Given the description of an element on the screen output the (x, y) to click on. 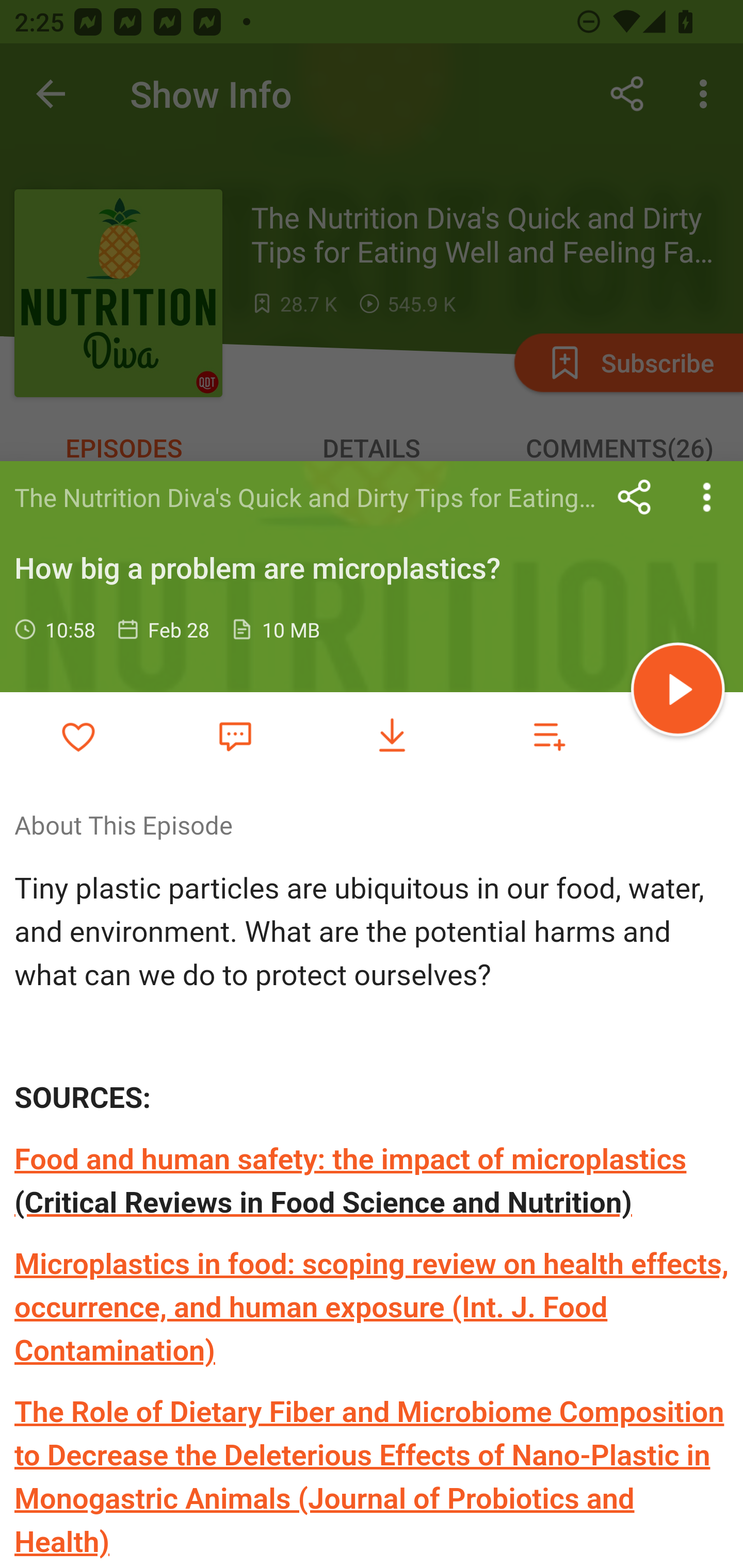
Share (634, 496)
more options (706, 496)
Play (677, 692)
Favorite (234, 735)
Add to Favorites (78, 735)
Download (391, 735)
Add to playlist (548, 735)
Food and human safety: the impact of microplastics (351, 1159)
 (Critical Reviews in Food Science and Nutrition) (323, 1203)
